Given the description of an element on the screen output the (x, y) to click on. 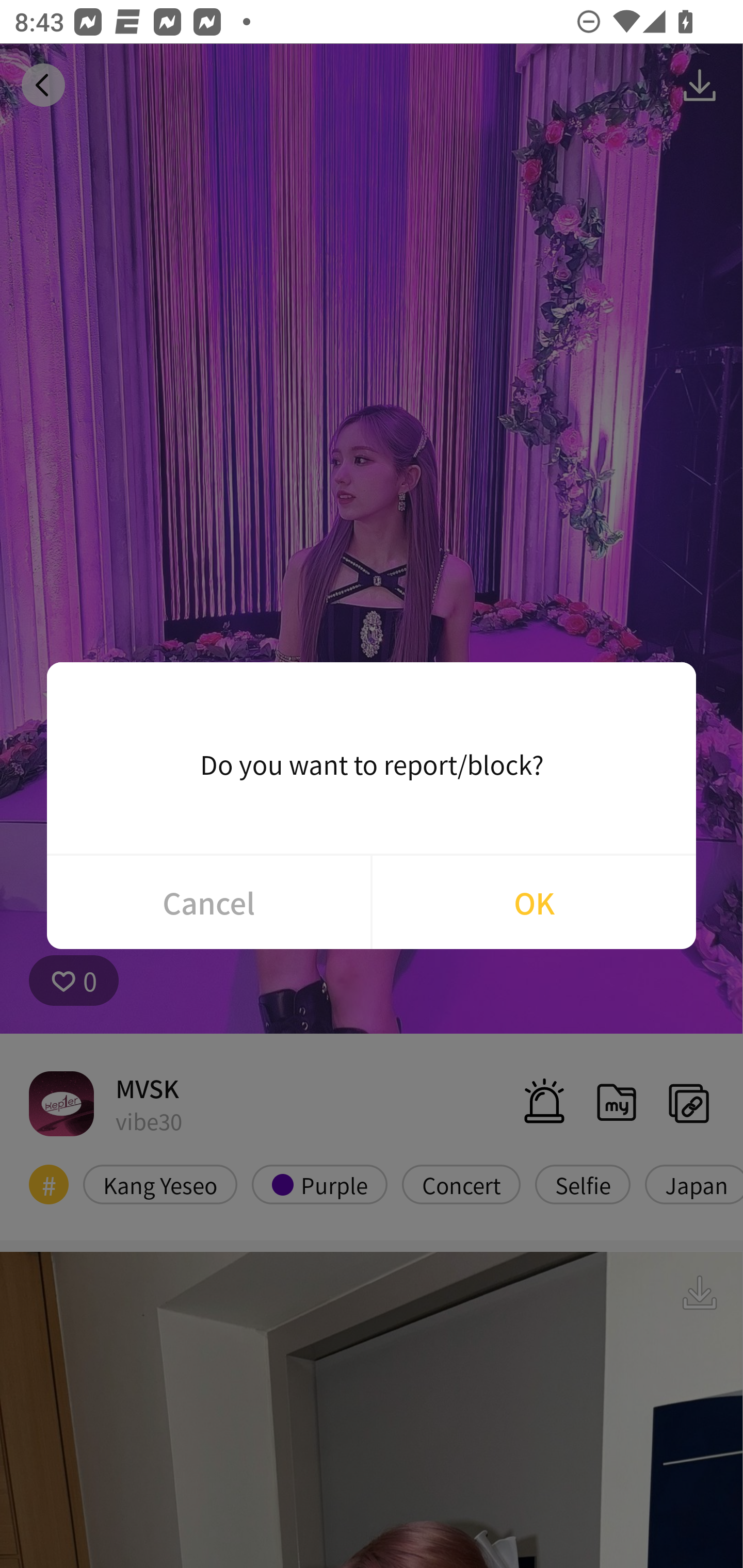
Cancel (208, 902)
OK (534, 902)
